Given the description of an element on the screen output the (x, y) to click on. 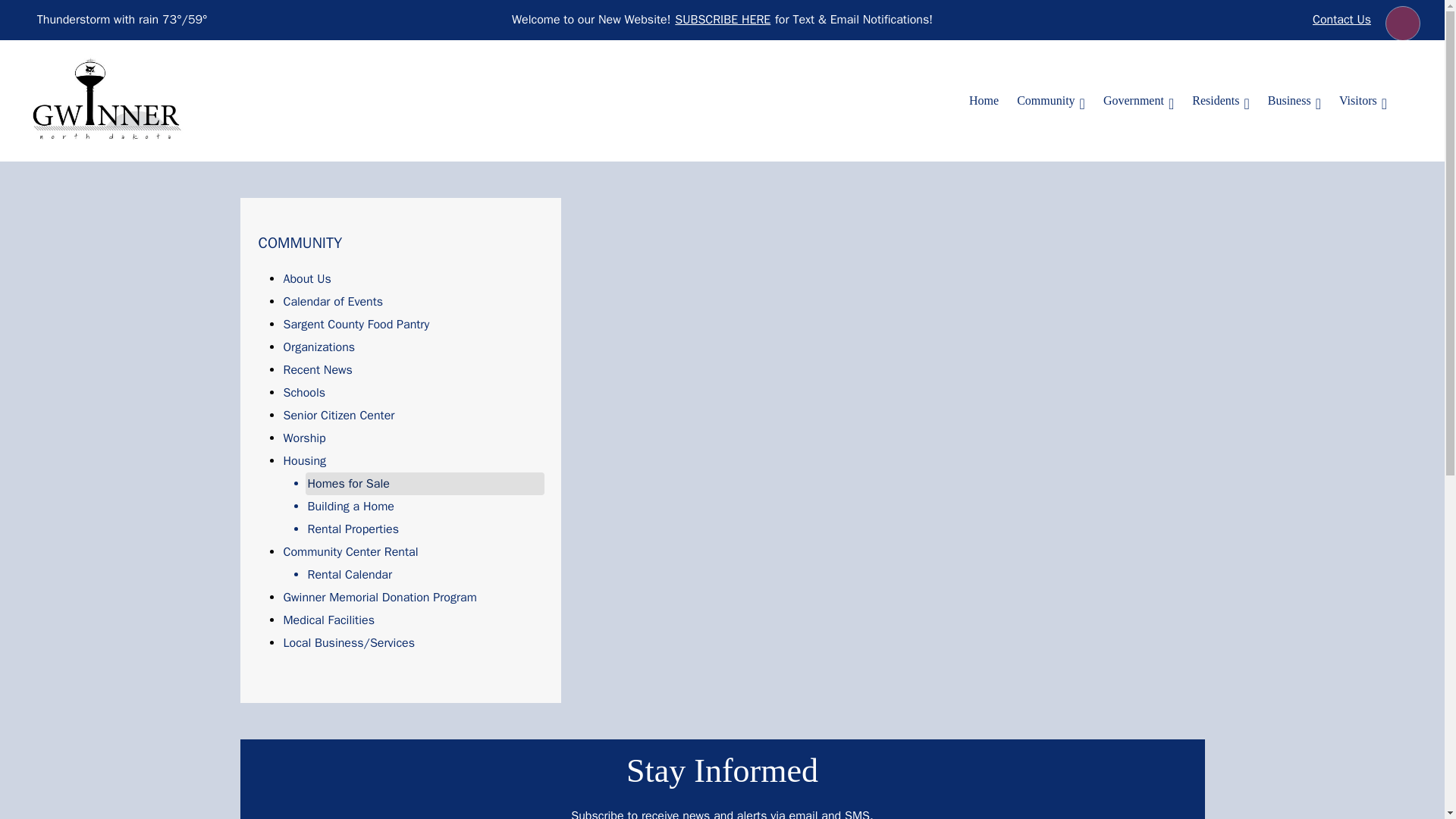
contains current page link (1050, 100)
Contact Us (1341, 19)
Alerts (1403, 22)
SUBSCRIBE HERE (722, 19)
Home (983, 100)
Community (1050, 100)
Government (1138, 100)
